Given the description of an element on the screen output the (x, y) to click on. 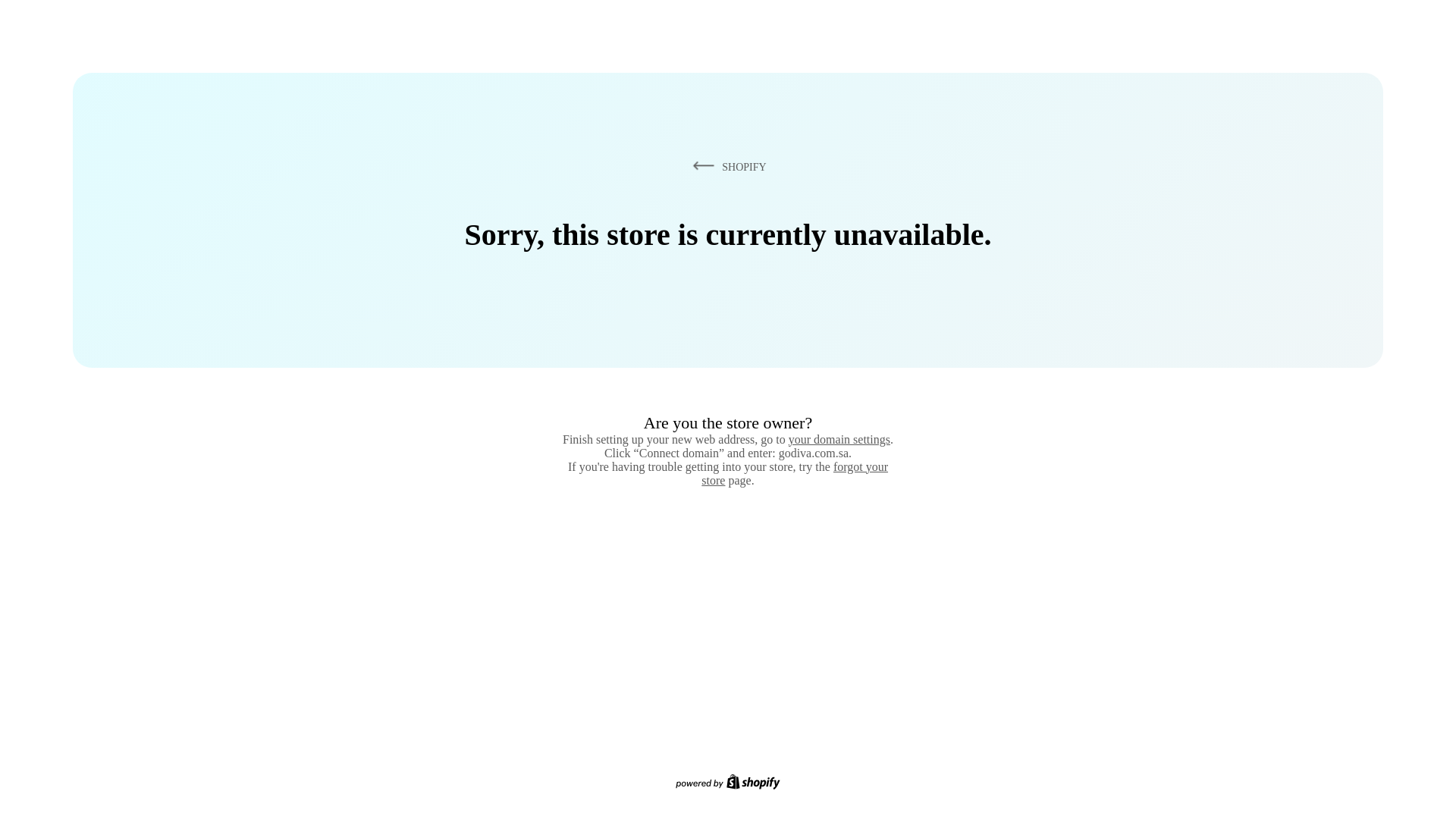
SHOPIFY (726, 166)
your domain settings (839, 439)
forgot your store (794, 473)
